Given the description of an element on the screen output the (x, y) to click on. 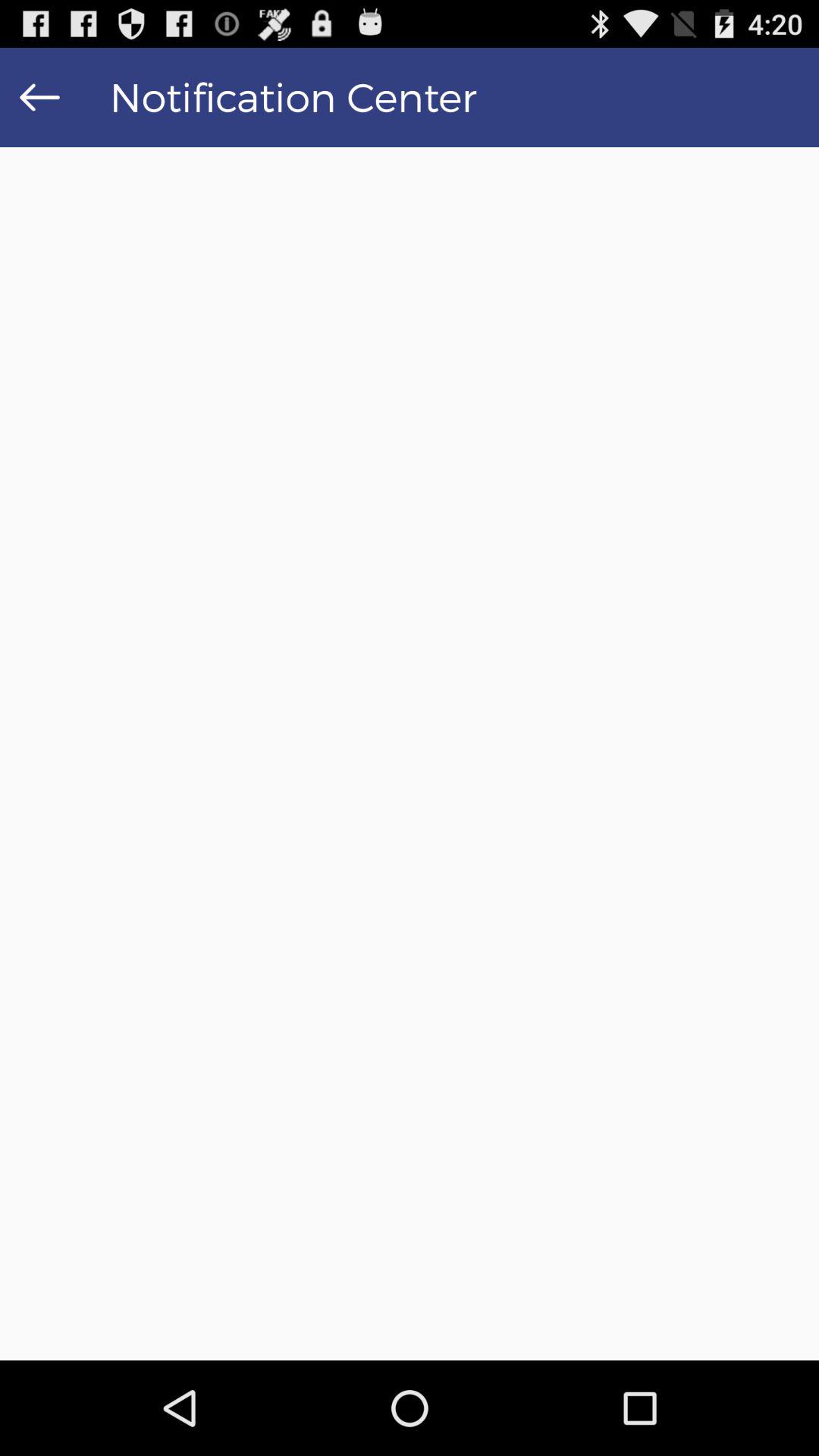
go back (39, 97)
